Given the description of an element on the screen output the (x, y) to click on. 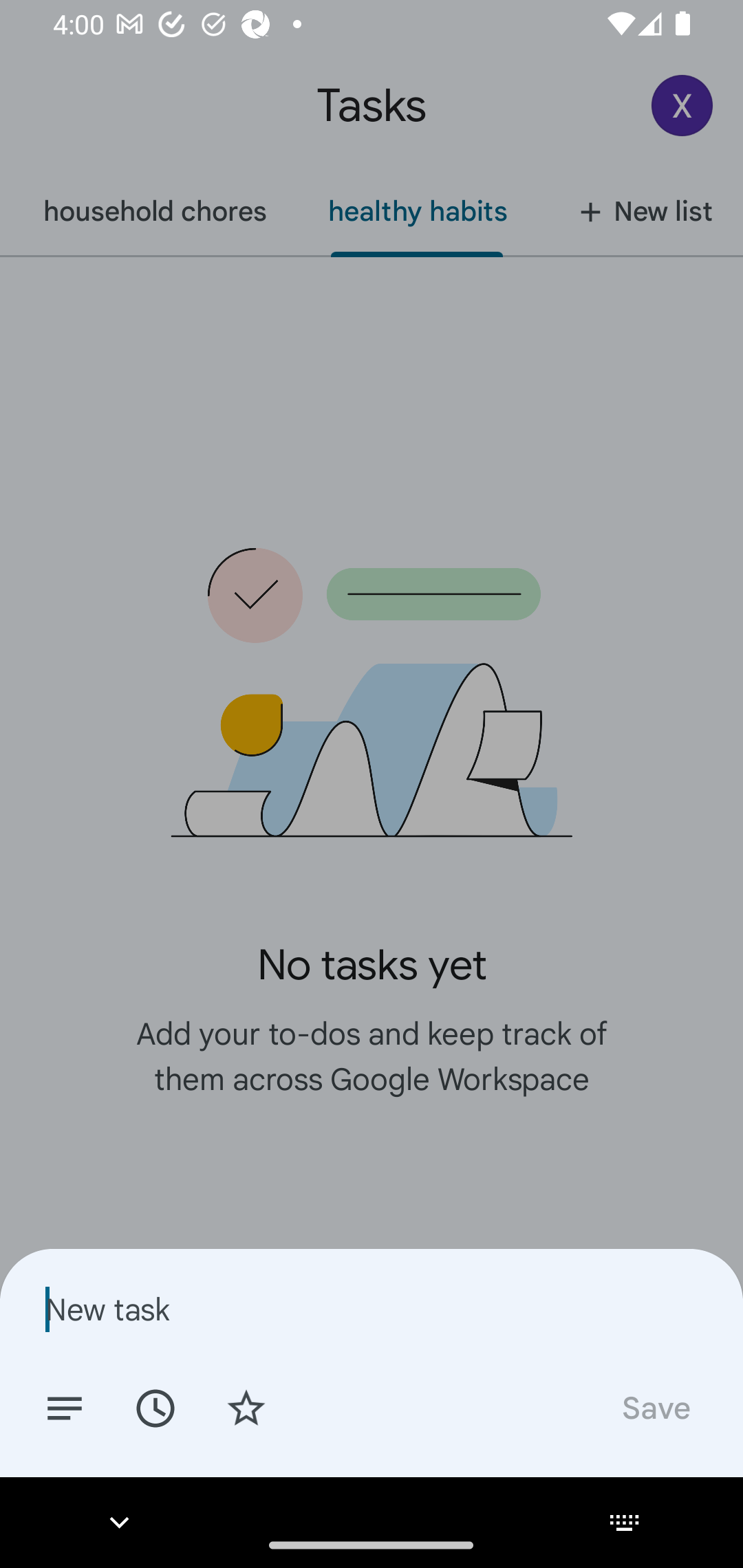
New task (371, 1308)
Save (655, 1407)
Add details (64, 1407)
Set date/time (154, 1407)
Add star (245, 1407)
